Given the description of an element on the screen output the (x, y) to click on. 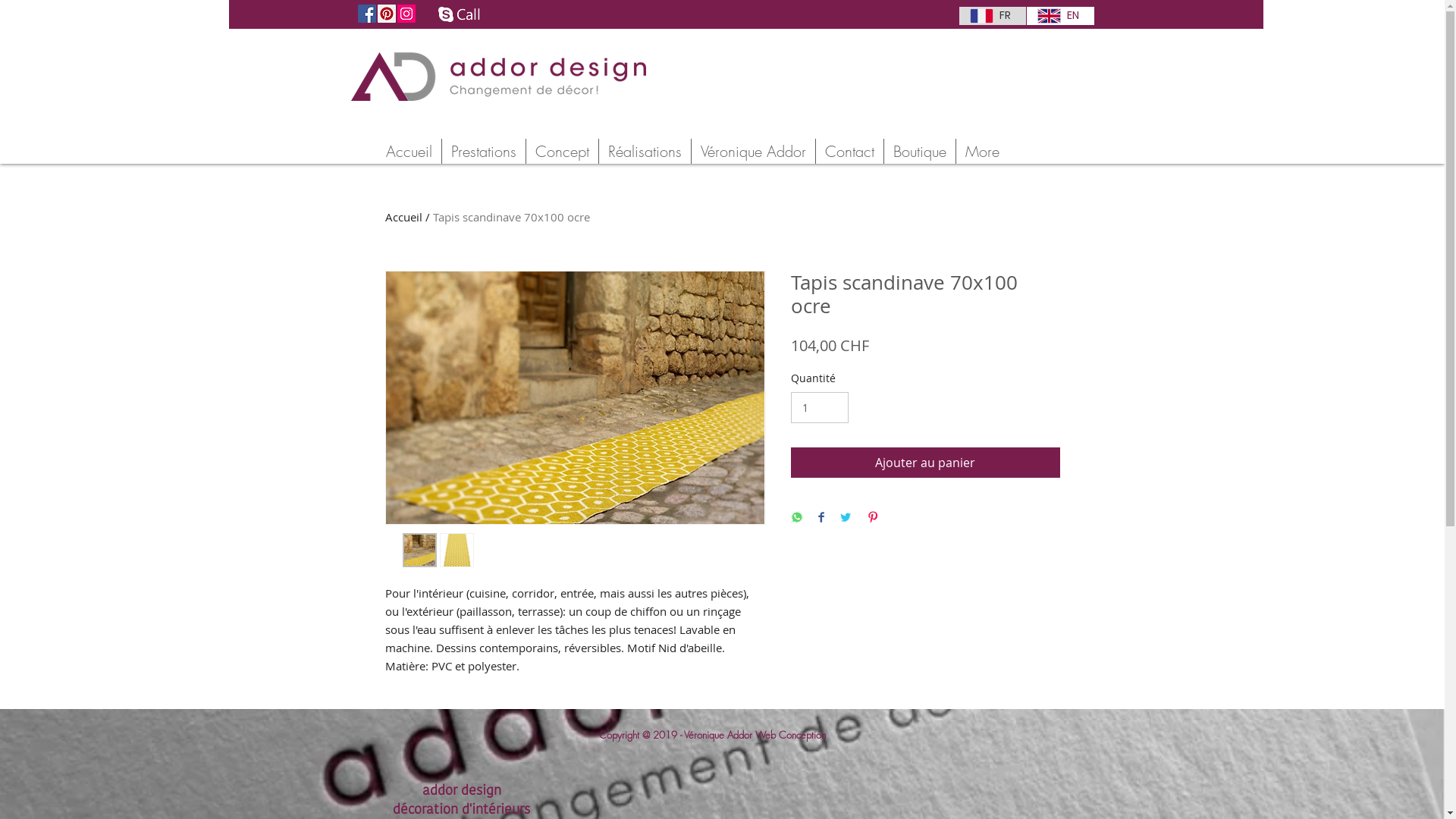
Prestations Element type: text (482, 150)
Concept Element type: text (562, 150)
EN Element type: text (1059, 15)
Call via Skype Element type: hover (459, 15)
Accueil Element type: text (403, 216)
Tapis scandinave 70x100 ocre Element type: text (510, 216)
Contact Element type: text (849, 150)
Ajouter au panier Element type: text (924, 462)
Accueil Element type: text (408, 150)
Boutique Element type: text (919, 150)
FR Element type: text (991, 15)
